Given the description of an element on the screen output the (x, y) to click on. 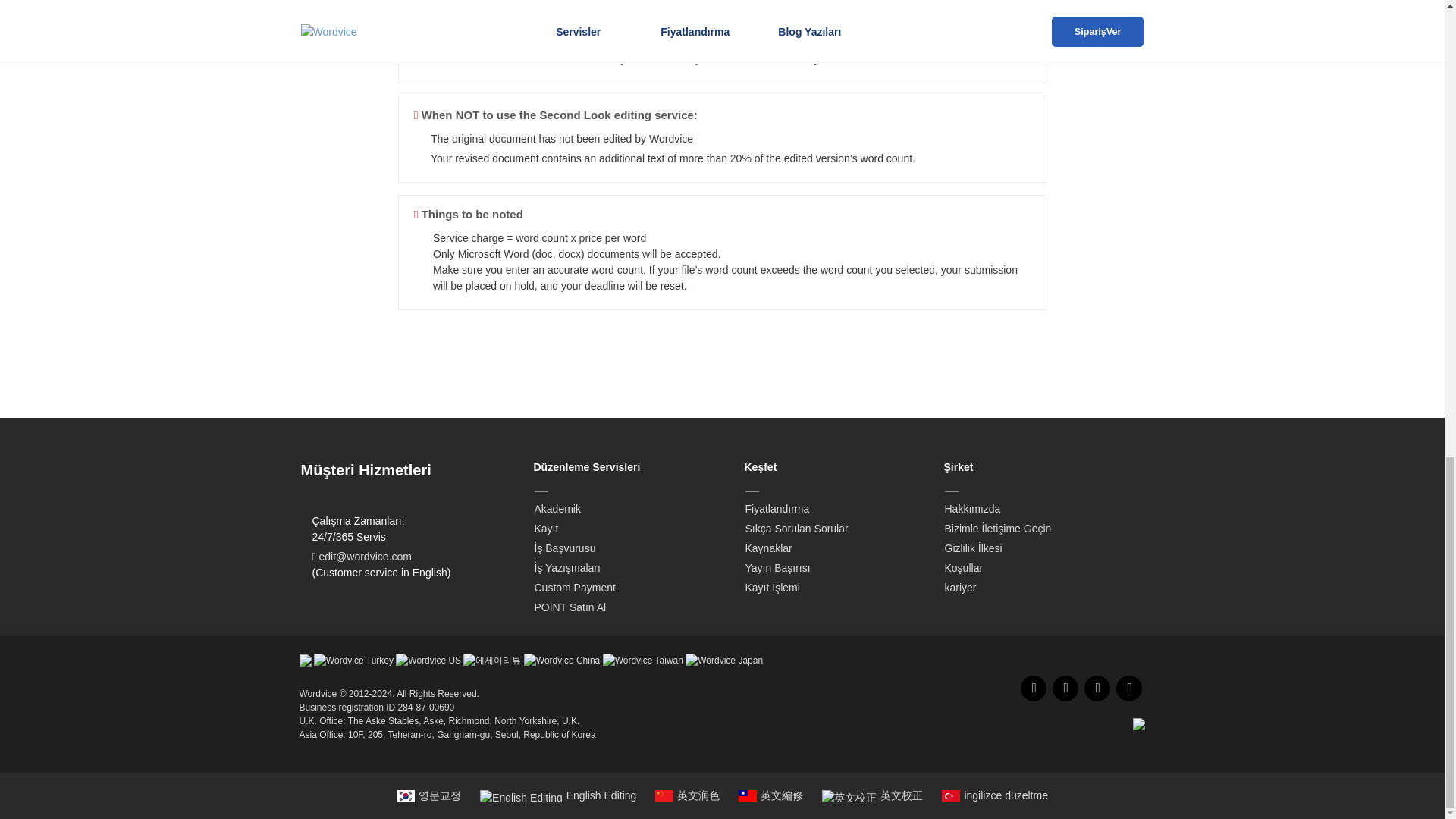
Wordvice China (561, 660)
Wordvice Japan (723, 660)
Wordvice US (428, 660)
Wordvice Taiwan (642, 660)
Wordvice Japan (723, 659)
Wordvice China (561, 659)
Wordvice Turkey (353, 660)
Wordvice Turkey (353, 659)
Wordvice US (428, 659)
Wordvice Taiwan (642, 659)
